Given the description of an element on the screen output the (x, y) to click on. 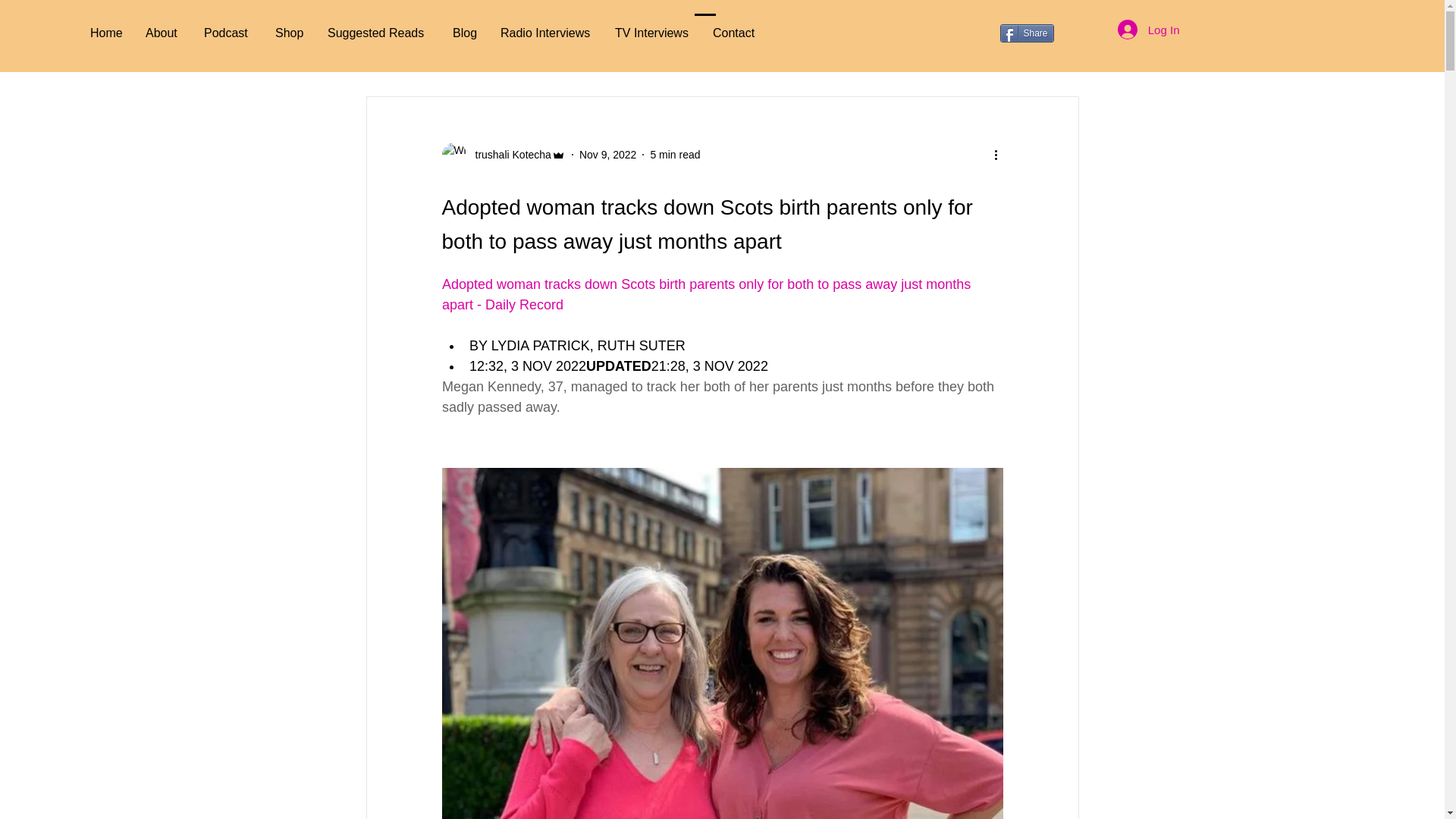
trushali Kotecha (507, 154)
Suggested Reads (378, 32)
All Posts (385, 50)
Log In (1148, 29)
Shop (289, 32)
About (162, 32)
Share (1025, 33)
Home (105, 32)
5 min read (674, 154)
